Given the description of an element on the screen output the (x, y) to click on. 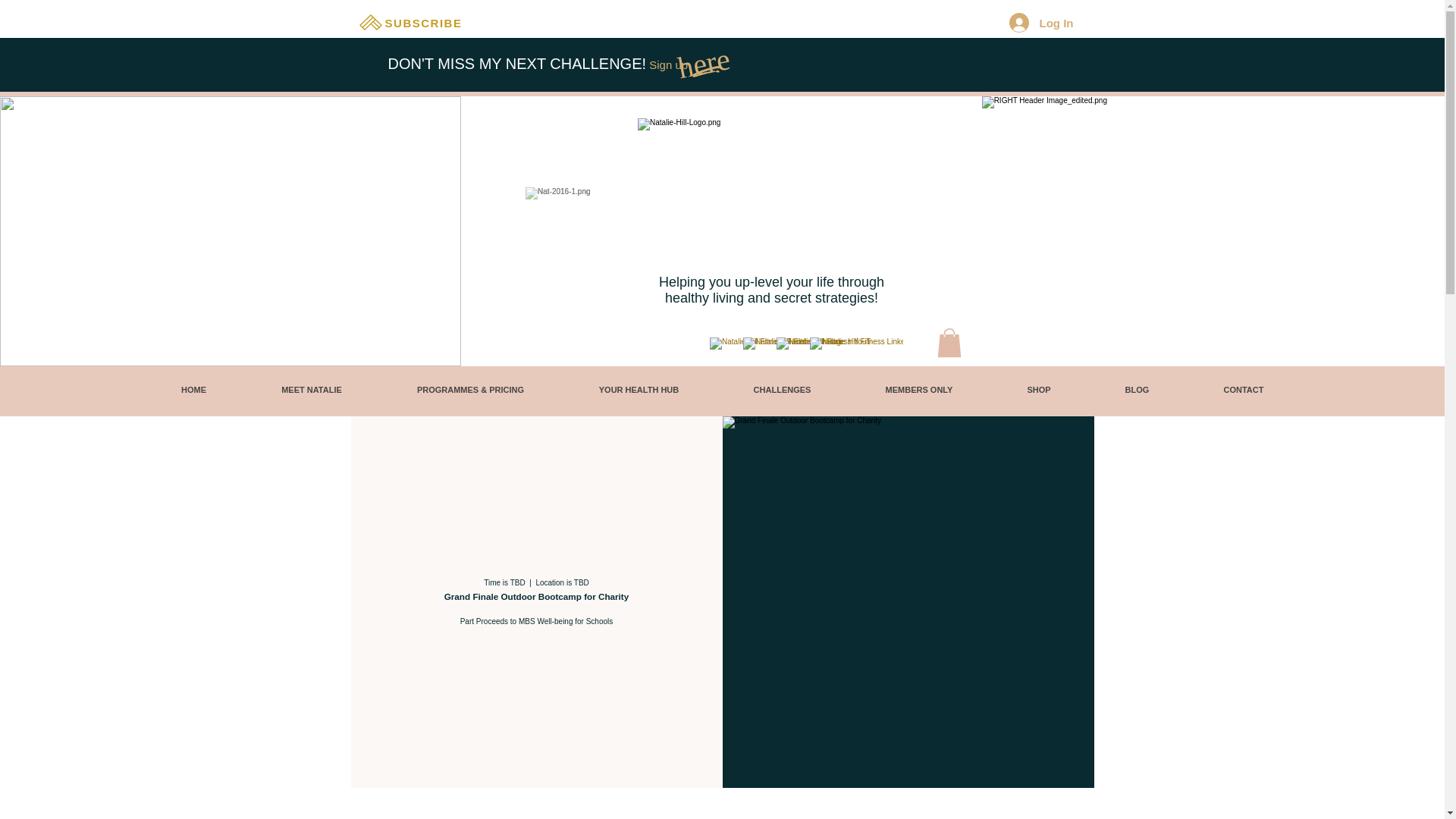
YOUR HEALTH HUB (639, 389)
SHOP (1038, 389)
BLOG (1136, 389)
MEMBERS ONLY (919, 389)
MEET NATALIE (311, 389)
CONTACT (1243, 389)
Log In (1040, 22)
SUBSCRIBE (425, 22)
HOME (193, 389)
CHALLENGES (781, 389)
